Given the description of an element on the screen output the (x, y) to click on. 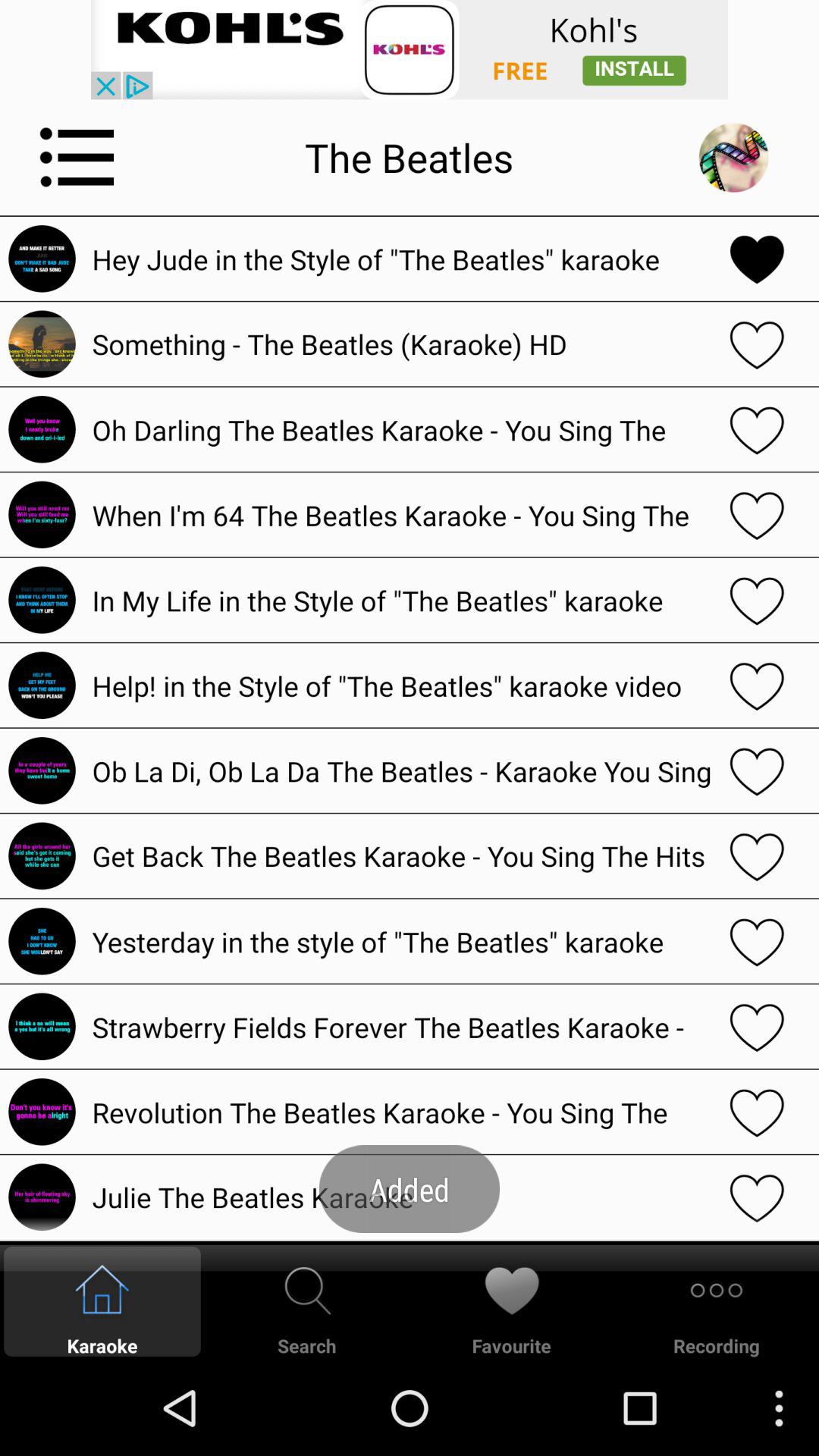
go to menu (77, 157)
